Given the description of an element on the screen output the (x, y) to click on. 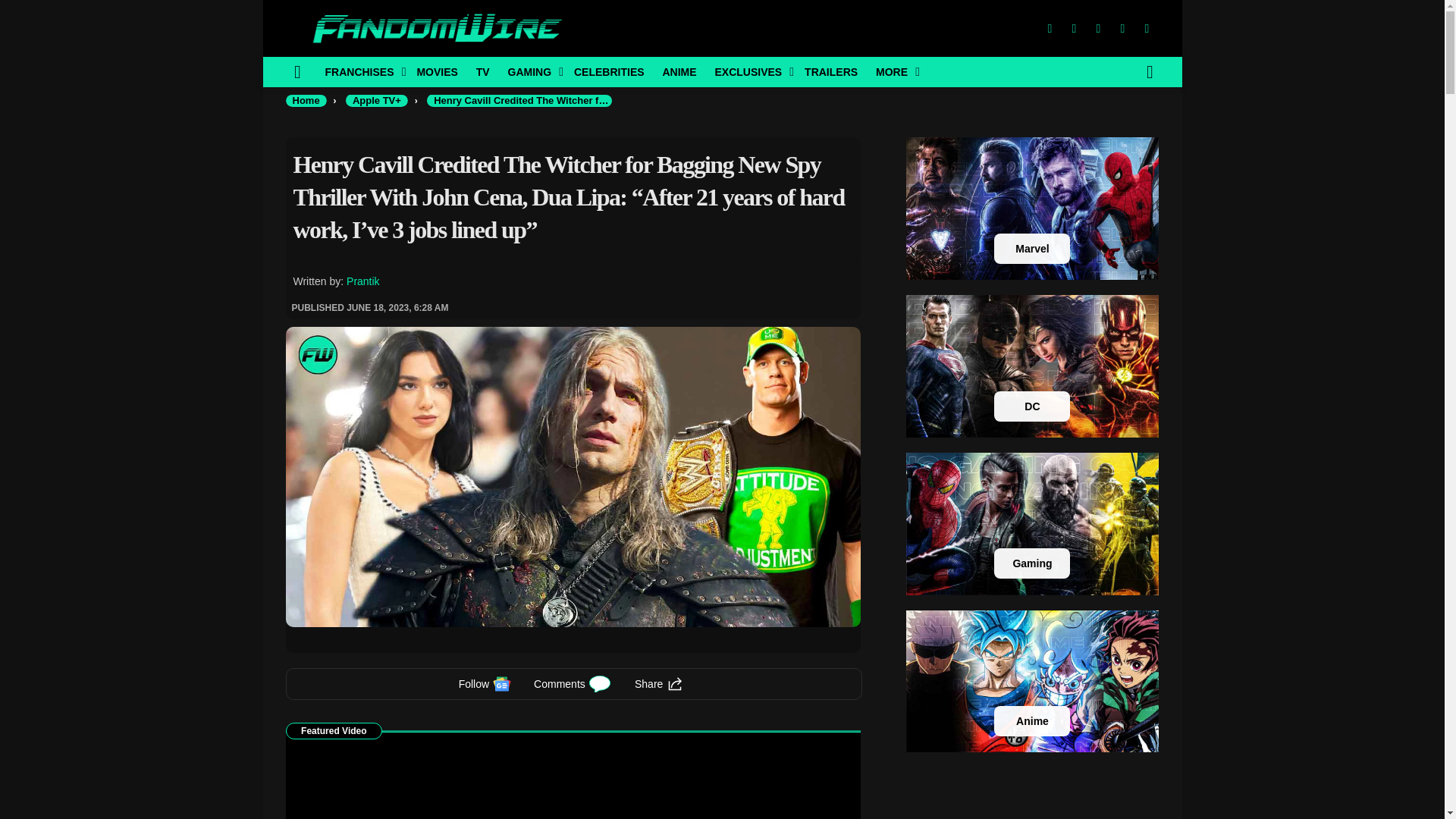
LinkedIn (1121, 28)
EXCLUSIVES (749, 71)
Menu (296, 71)
TV (482, 71)
YT (1146, 28)
Insta (1097, 28)
TRAILERS (830, 71)
ANIME (678, 71)
MOVIES (436, 71)
Twitter (1073, 28)
Facebook (1048, 28)
CELEBRITIES (609, 71)
FRANCHISES (361, 71)
MORE (893, 71)
GAMING (532, 71)
